Given the description of an element on the screen output the (x, y) to click on. 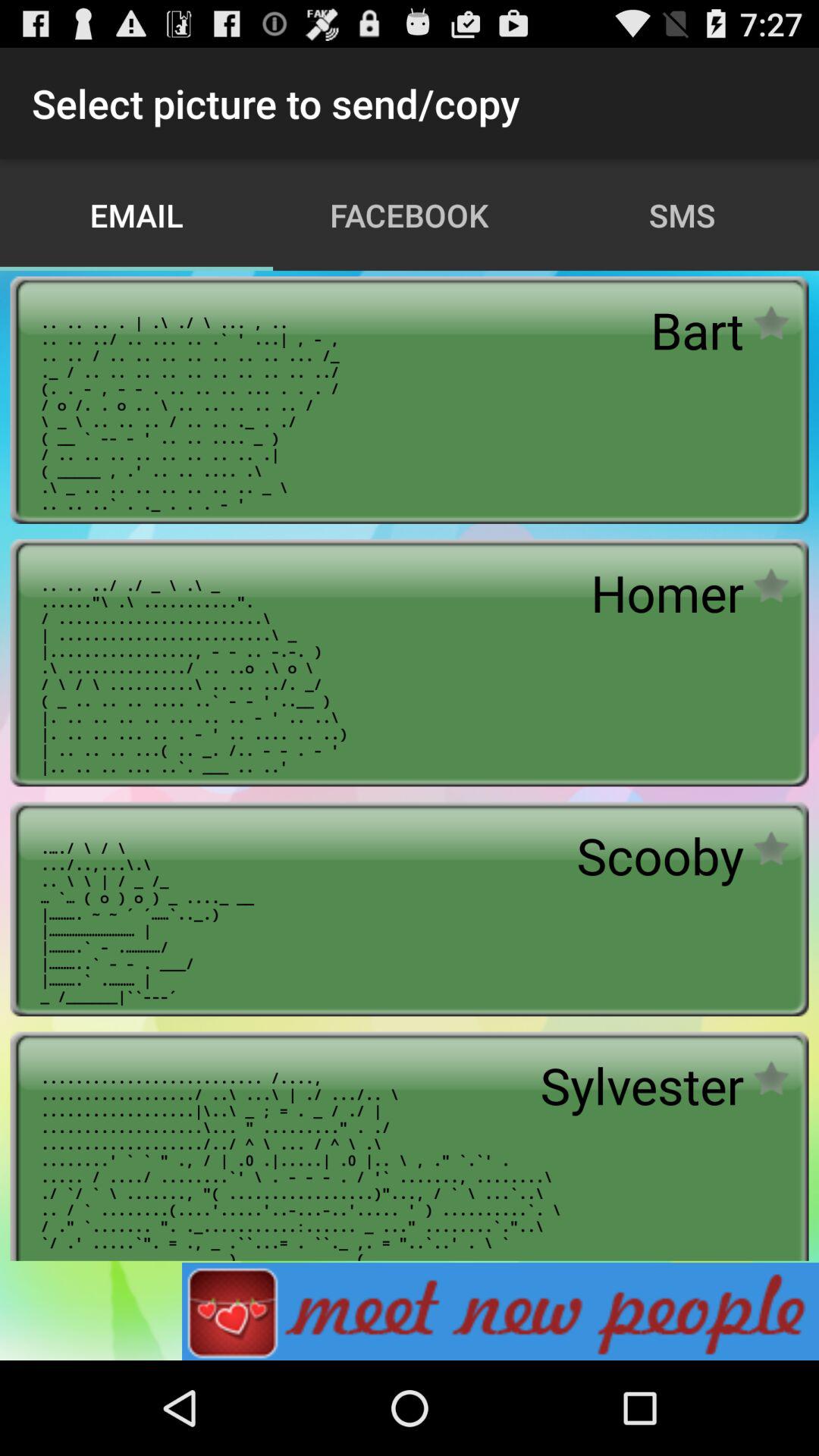
scroll to homer app (666, 592)
